Given the description of an element on the screen output the (x, y) to click on. 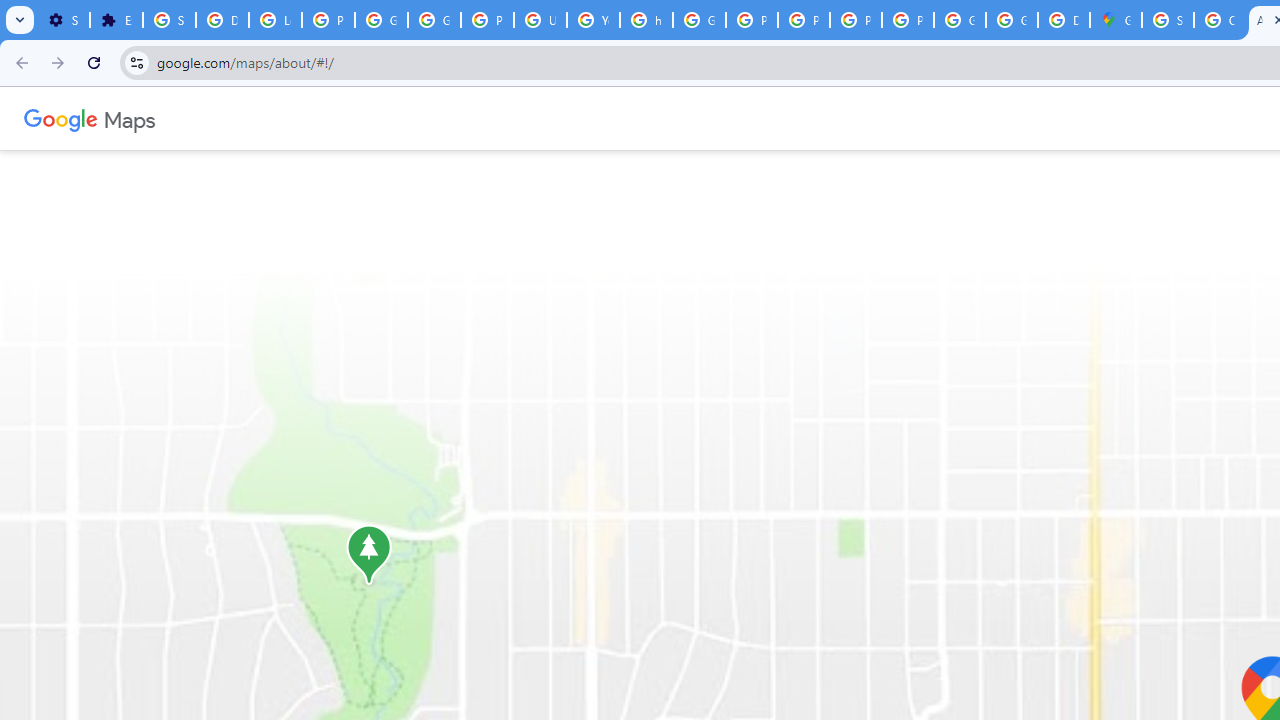
YouTube (593, 20)
